Given the description of an element on the screen output the (x, y) to click on. 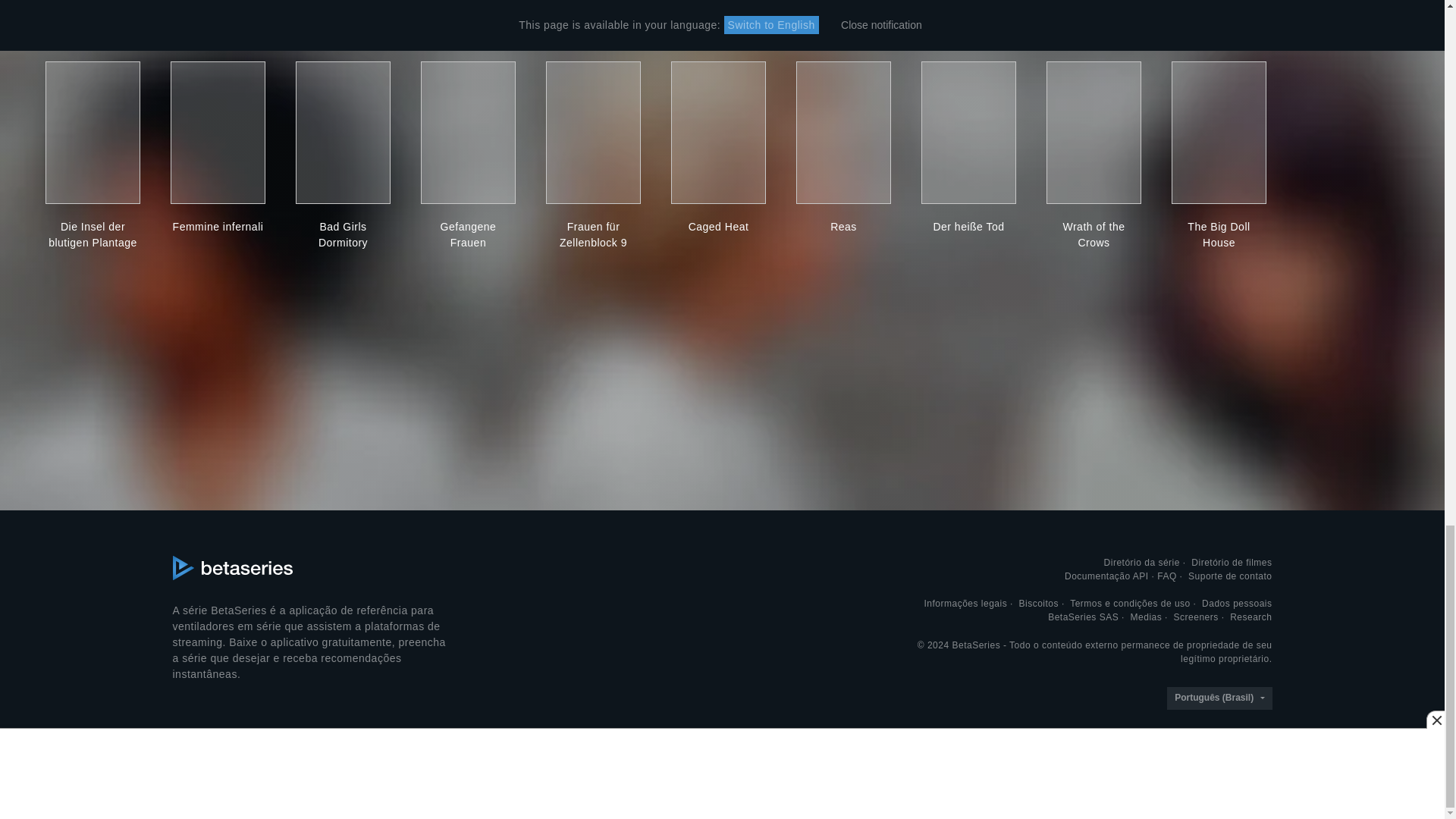
Reas (843, 227)
The Big Doll House (1219, 234)
Die Insel der blutigen Plantage (92, 234)
Gefangene Frauen (467, 234)
Caged Heat (718, 227)
Femmine infernali (217, 227)
Bad Girls Dormitory (342, 234)
Wrath of the Crows (1093, 234)
